Given the description of an element on the screen output the (x, y) to click on. 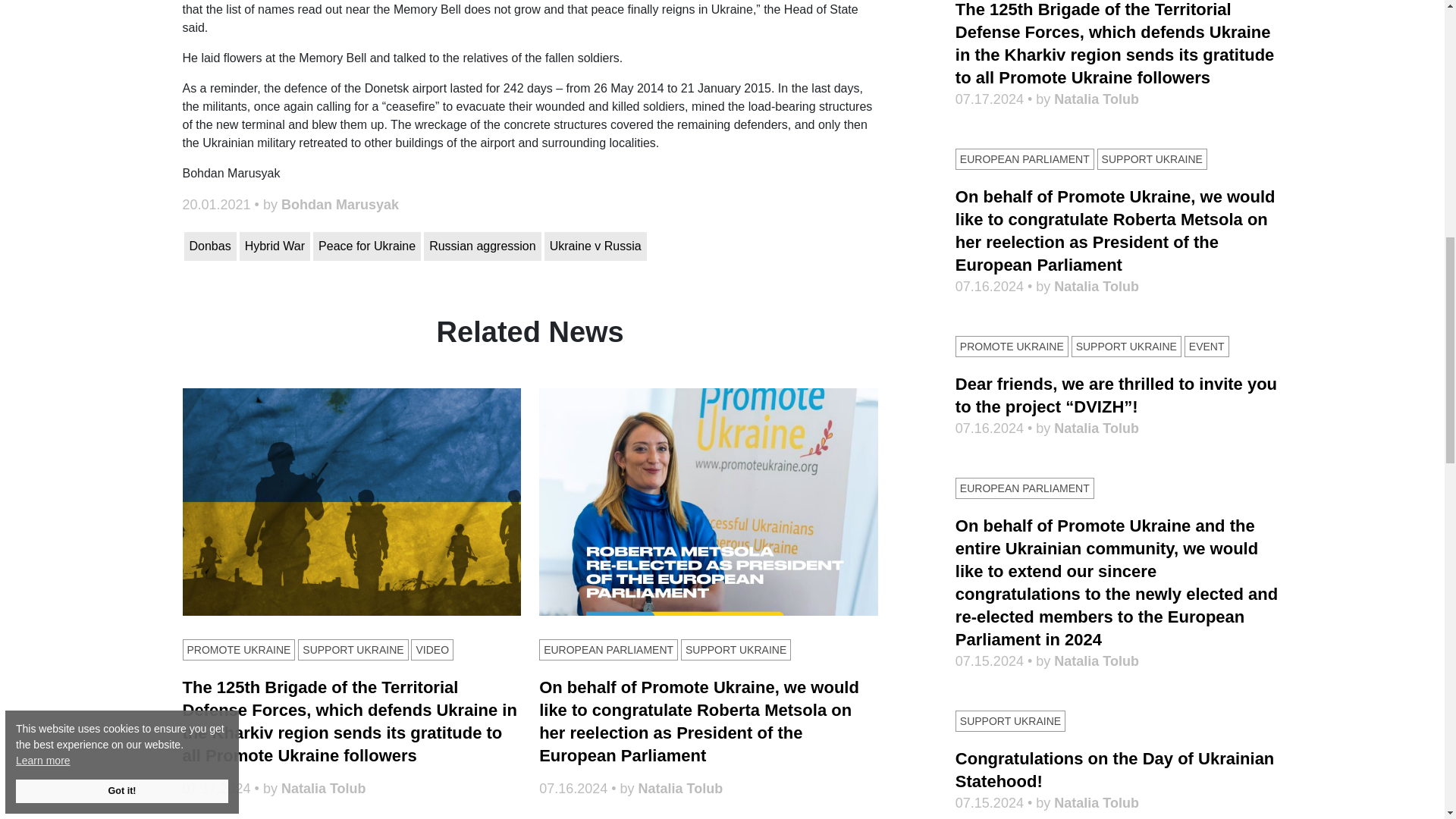
SUPPORT UKRAINE (352, 649)
Peace for Ukraine (366, 246)
PROMOTE UKRAINE (238, 649)
Ukraine v Russia (595, 246)
Donbas (209, 246)
Russian aggression (482, 246)
VIDEO (431, 649)
Hybrid War (275, 246)
